Given the description of an element on the screen output the (x, y) to click on. 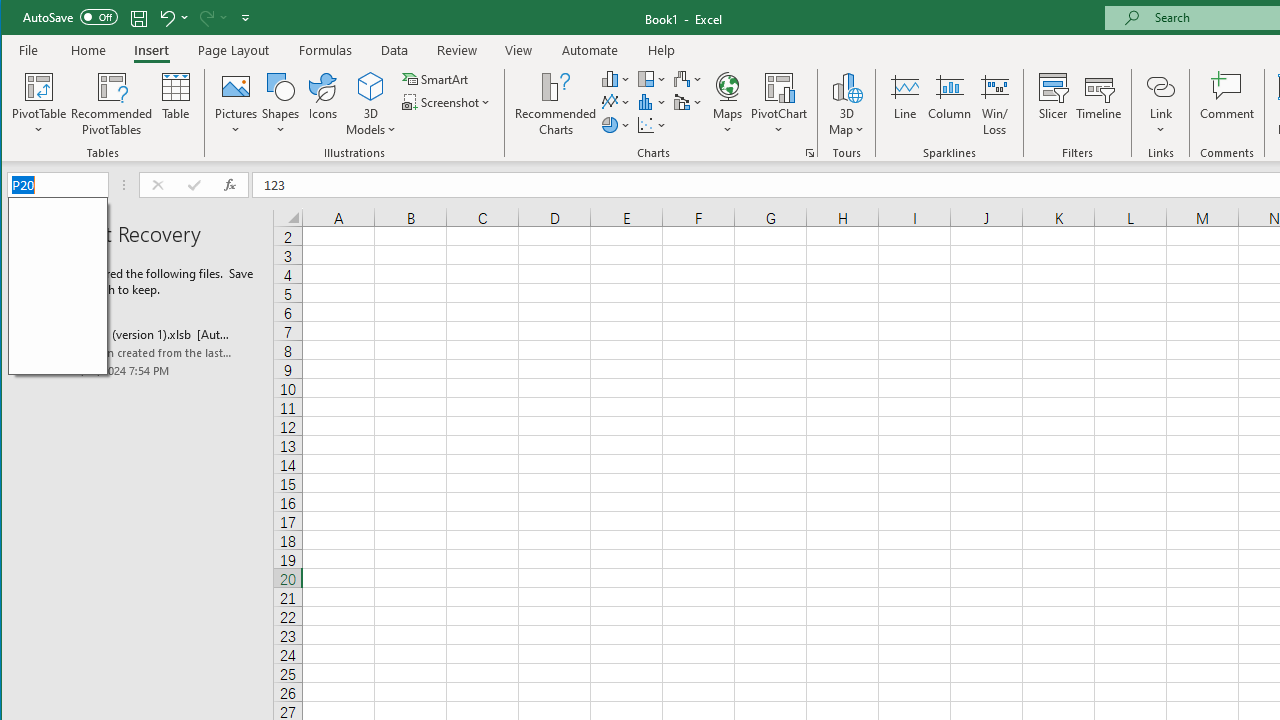
Timeline (1098, 104)
Insert Column or Bar Chart (616, 78)
Recommended Charts (809, 152)
Insert Combo Chart (688, 101)
Maps (727, 104)
Slicer... (1052, 104)
Insert Waterfall, Funnel, Stock, Surface, or Radar Chart (688, 78)
Column (949, 104)
Comment (1227, 104)
